Given the description of an element on the screen output the (x, y) to click on. 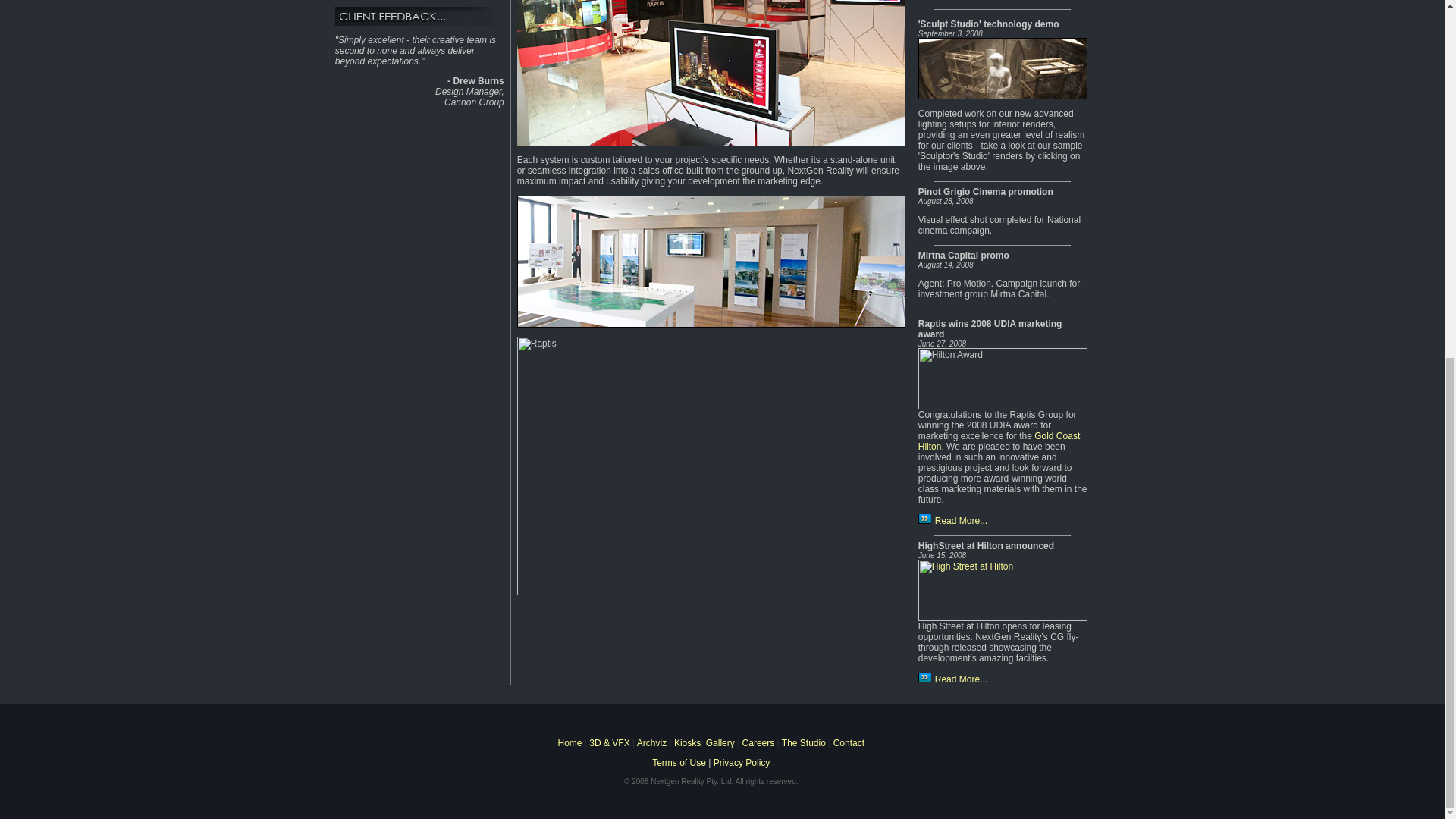
Gallery (718, 742)
Careers (759, 742)
Sculpt Studio (1002, 95)
Read More... (952, 679)
The Studio (803, 742)
Archviz (651, 742)
Home (569, 742)
Read More... (952, 520)
Privacy Policy (741, 762)
Terms of Use (679, 762)
Kiosks (687, 742)
Contact (848, 742)
Gold Coast Hilton (999, 441)
